Given the description of an element on the screen output the (x, y) to click on. 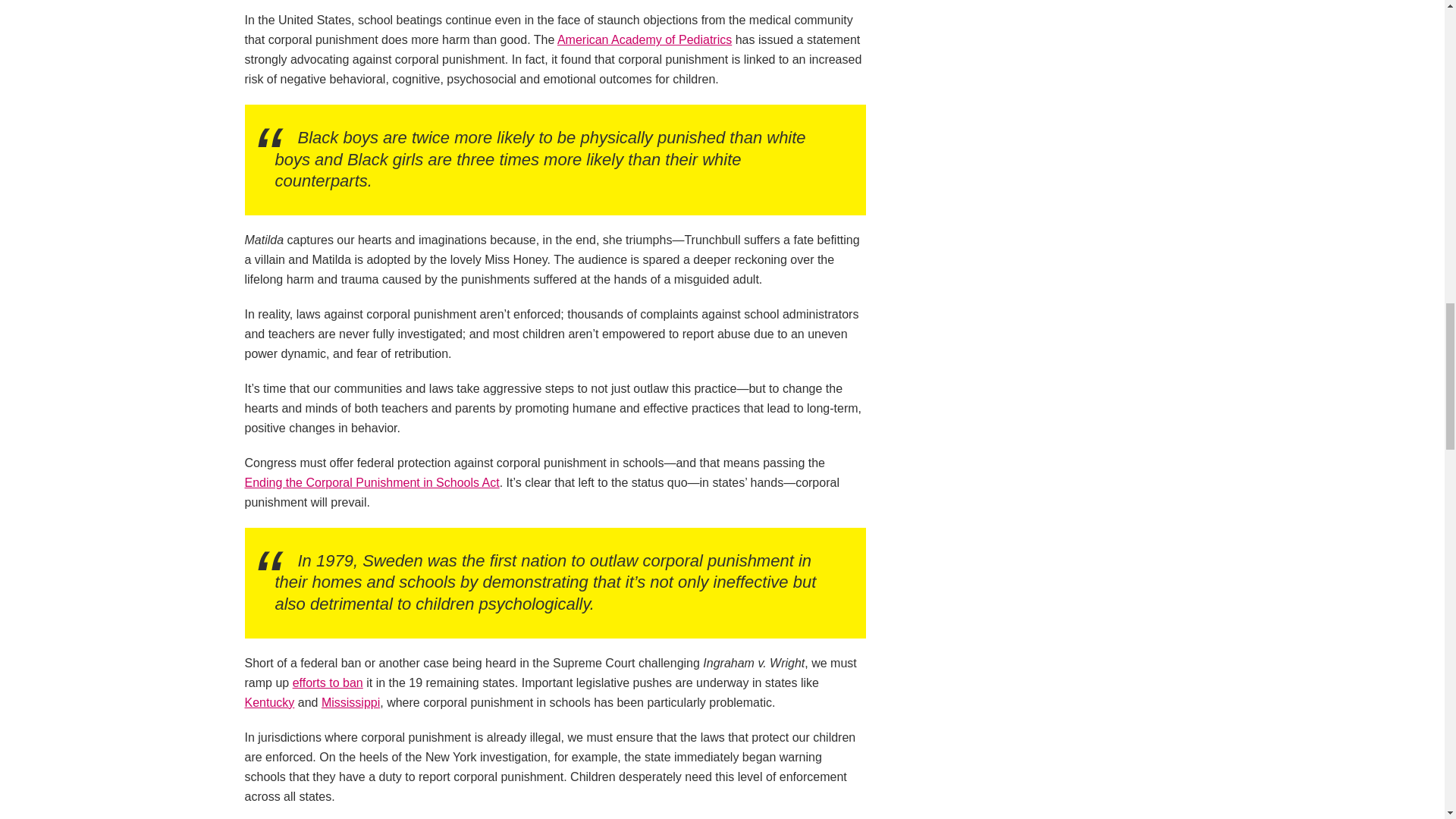
Ending the Corporal Punishment in Schools Act (371, 481)
American Academy of Pediatrics (644, 39)
